Given the description of an element on the screen output the (x, y) to click on. 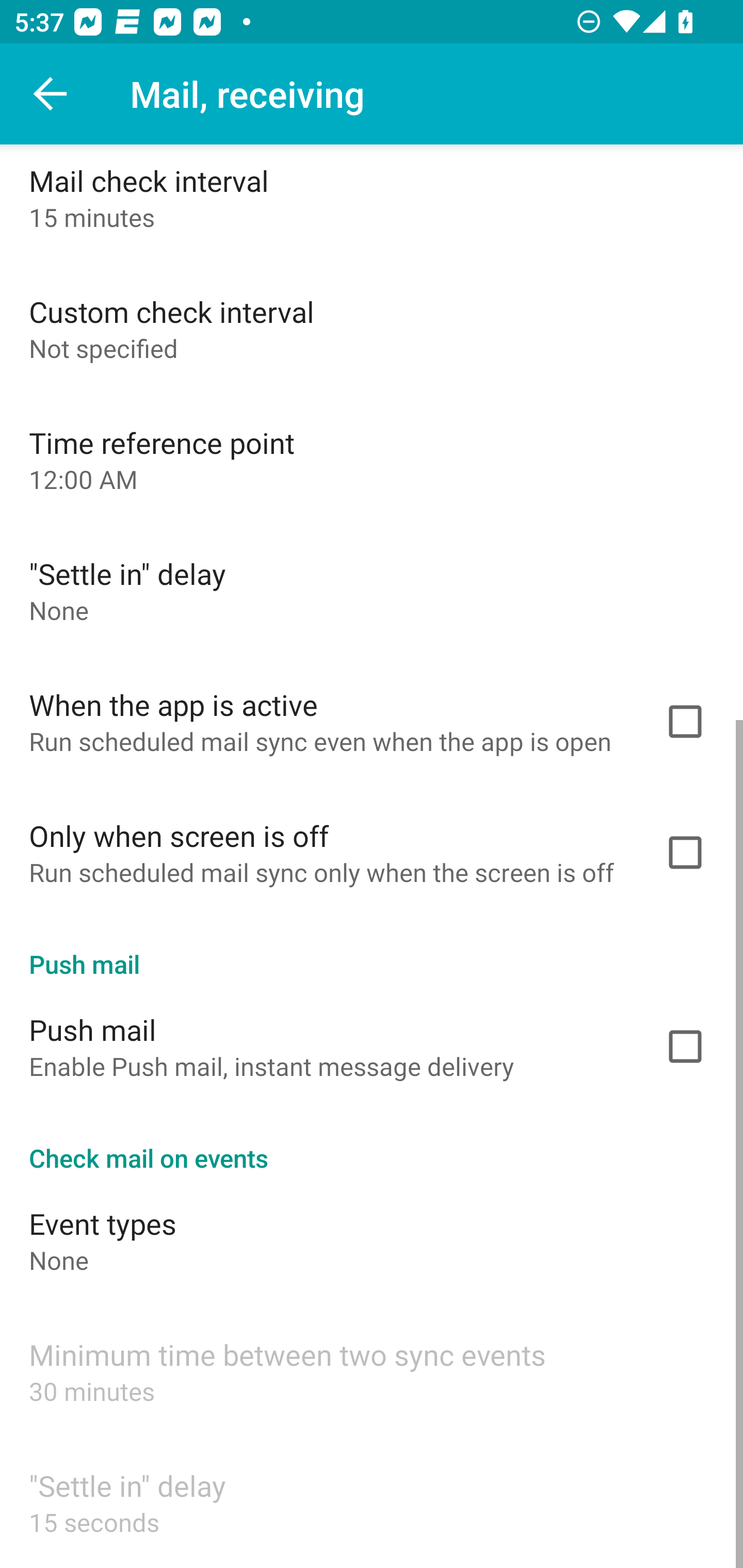
Navigate up (50, 93)
Mail check interval 15 minutes (371, 203)
Custom check interval Not specified (371, 328)
Time reference point 12:00 AM (371, 459)
"Settle in" delay None (371, 590)
Event types None (371, 1240)
Minimum time between two sync events 30 minutes (371, 1371)
"Settle in" delay 15 seconds (371, 1502)
